Given the description of an element on the screen output the (x, y) to click on. 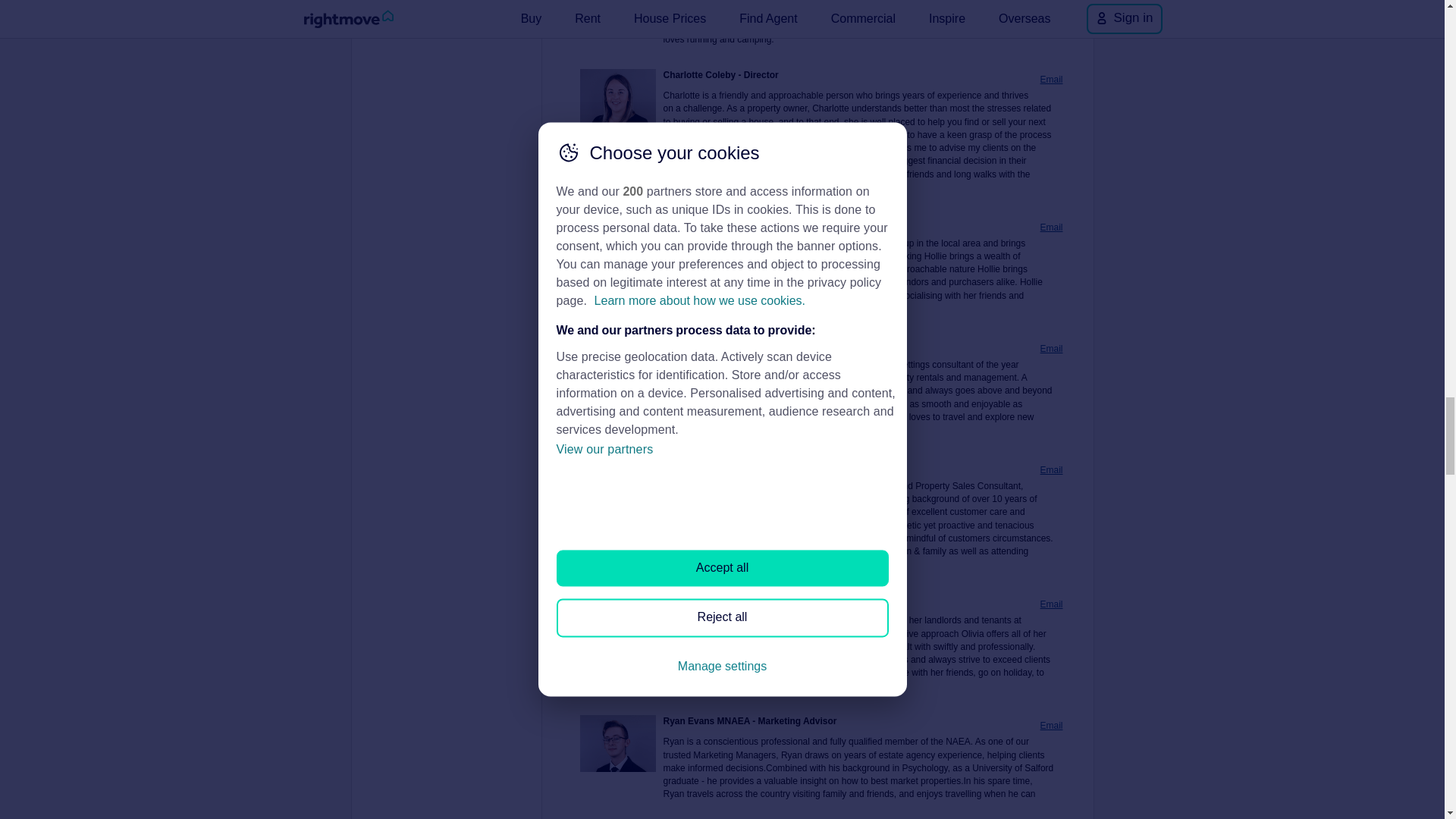
Email (1051, 470)
Email (1051, 349)
Email (1051, 79)
Email (1051, 725)
Email (1051, 604)
Email (1051, 227)
